Given the description of an element on the screen output the (x, y) to click on. 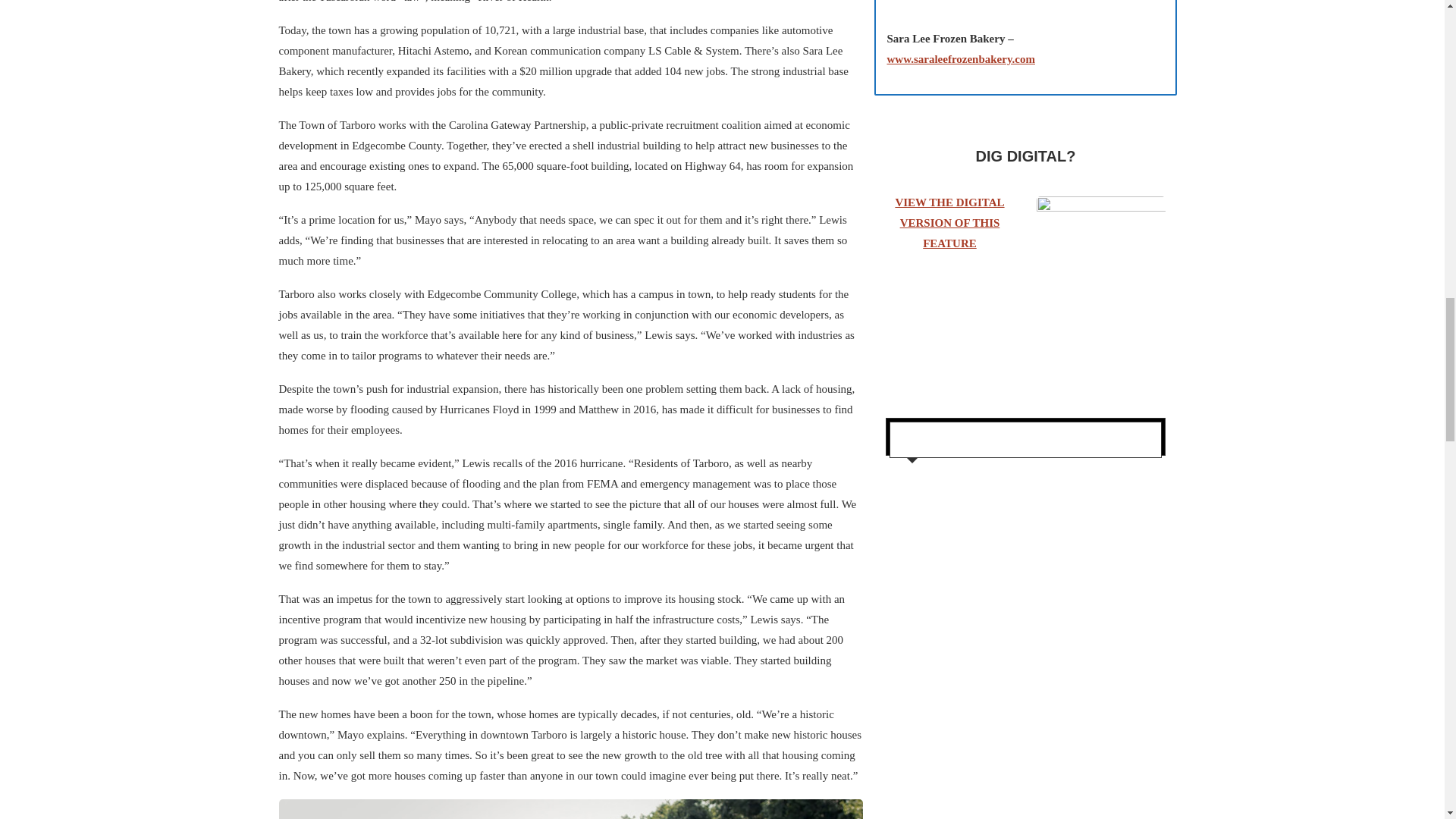
www.saraleefrozenbakery.com (960, 59)
VIEW THE DIGITAL VERSION OF THIS FEATURE (949, 222)
